Given the description of an element on the screen output the (x, y) to click on. 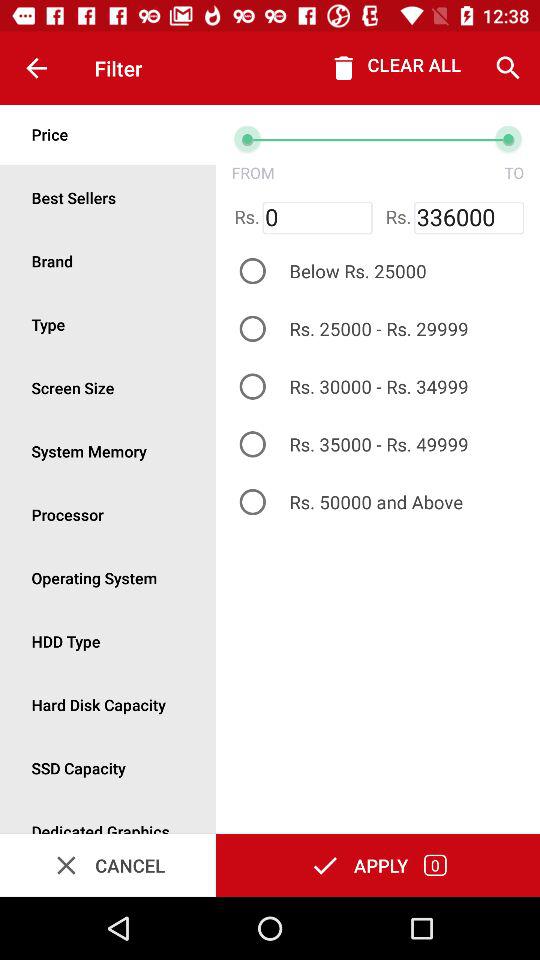
tap item next to rs. (468, 217)
